Given the description of an element on the screen output the (x, y) to click on. 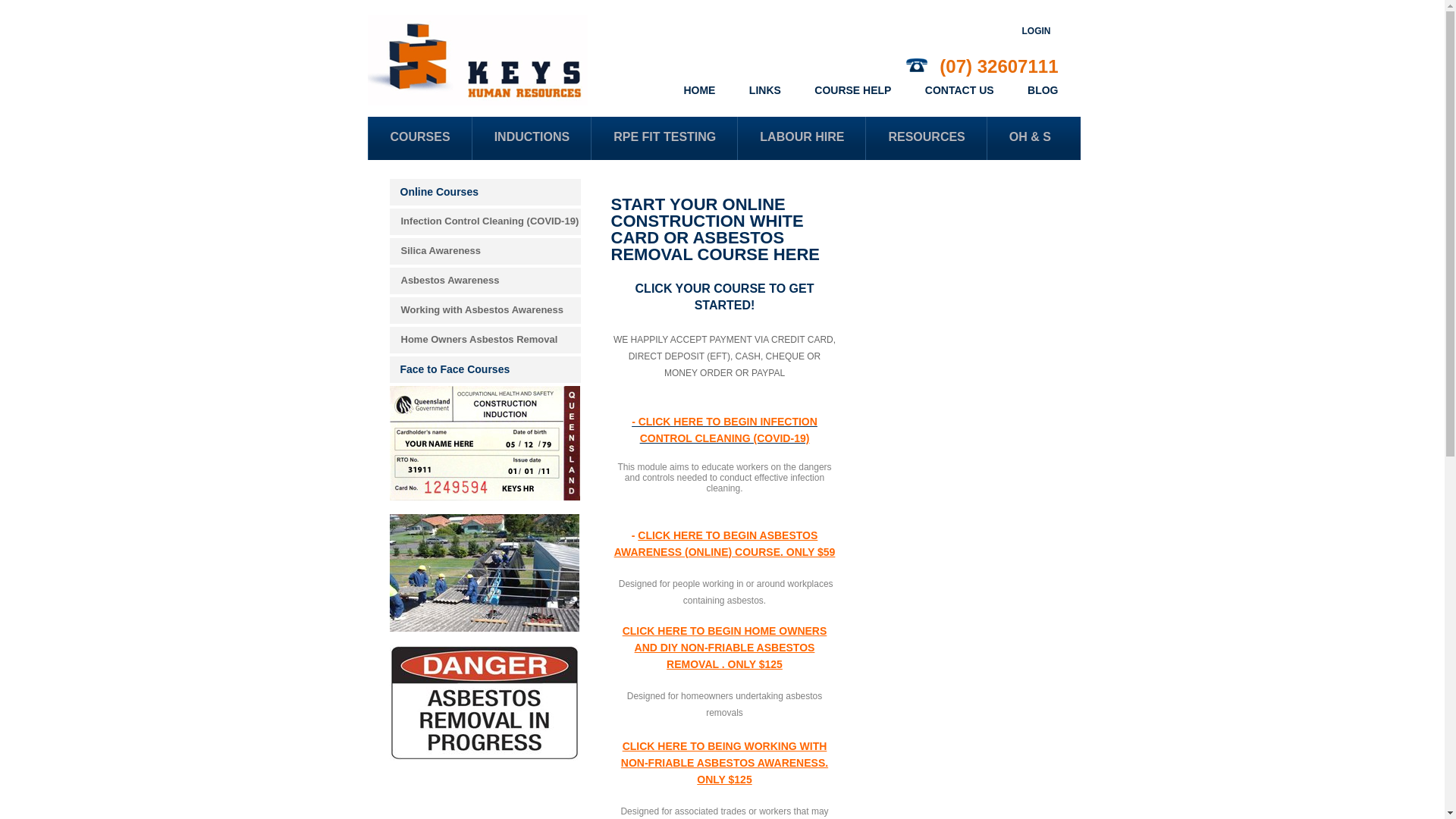
LINKS Element type: text (765, 90)
COURSES Element type: text (418, 138)
Working with Asbestos Awareness Element type: text (484, 310)
Silica Awareness Element type: text (484, 251)
Home Owners Asbestos Removal Element type: text (484, 339)
CONTACT US Element type: text (959, 90)
HOME Element type: text (699, 90)
Face to Face Courses Element type: text (484, 369)
OH & S Element type: text (1029, 138)
- CLICK HERE TO BEGIN INFECTION CONTROL CLEANING (COVID-19) Element type: text (724, 429)
LABOUR HIRE Element type: text (801, 138)
LOGIN Element type: text (1036, 30)
COURSE HELP Element type: text (852, 90)
RPE FIT TESTING Element type: text (663, 138)
INDUCTIONS Element type: text (531, 138)
BLOG Element type: text (1042, 90)
Infection Control Cleaning (COVID-19) Element type: text (484, 221)
Online Courses Element type: text (484, 191)
RESOURCES Element type: text (925, 138)
Asbestos Awareness Element type: text (484, 280)
